Given the description of an element on the screen output the (x, y) to click on. 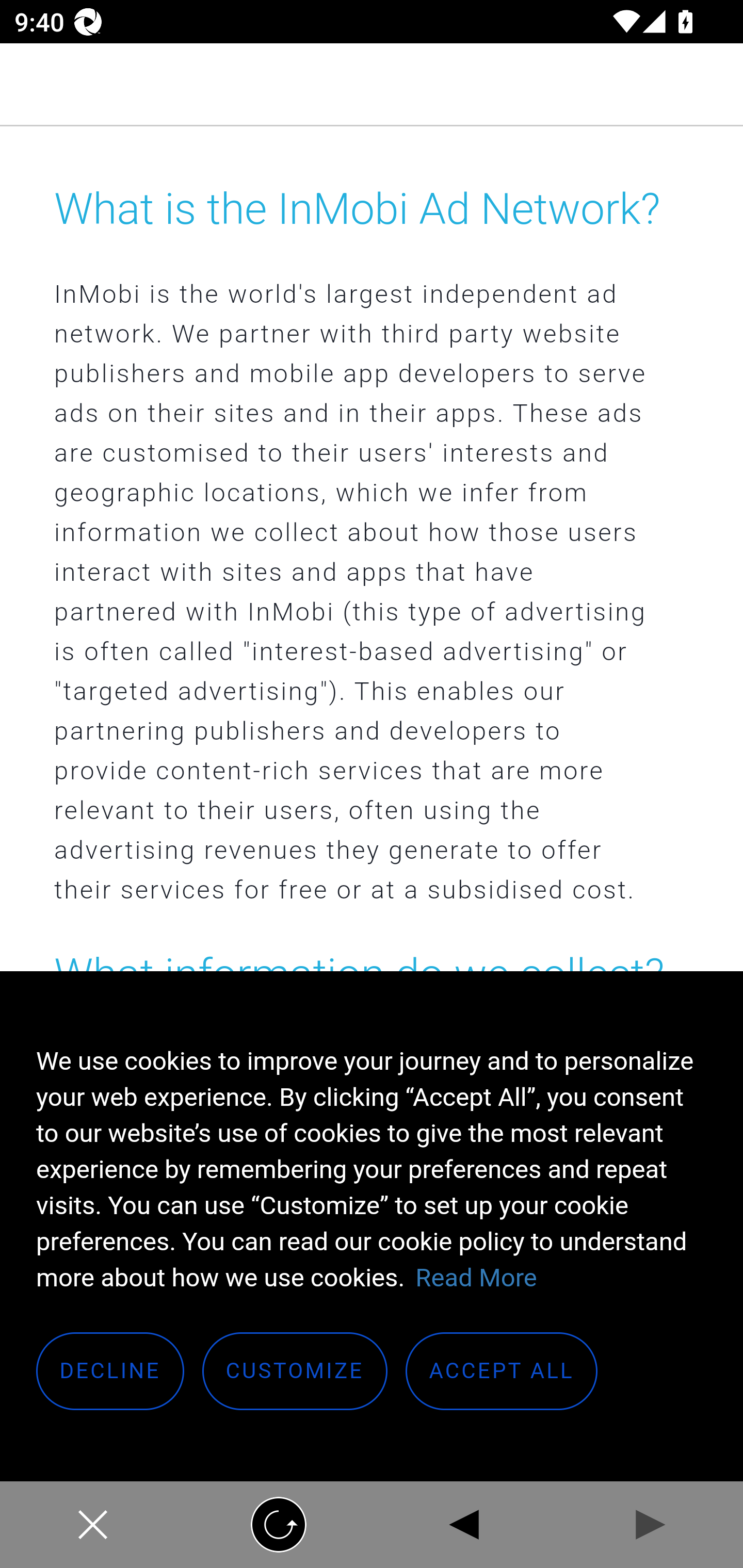
www.inmobi (371, 84)
Read More (476, 1277)
DECLINE (110, 1371)
CUSTOMIZE (294, 1371)
ACCEPT ALL (501, 1371)
